Given the description of an element on the screen output the (x, y) to click on. 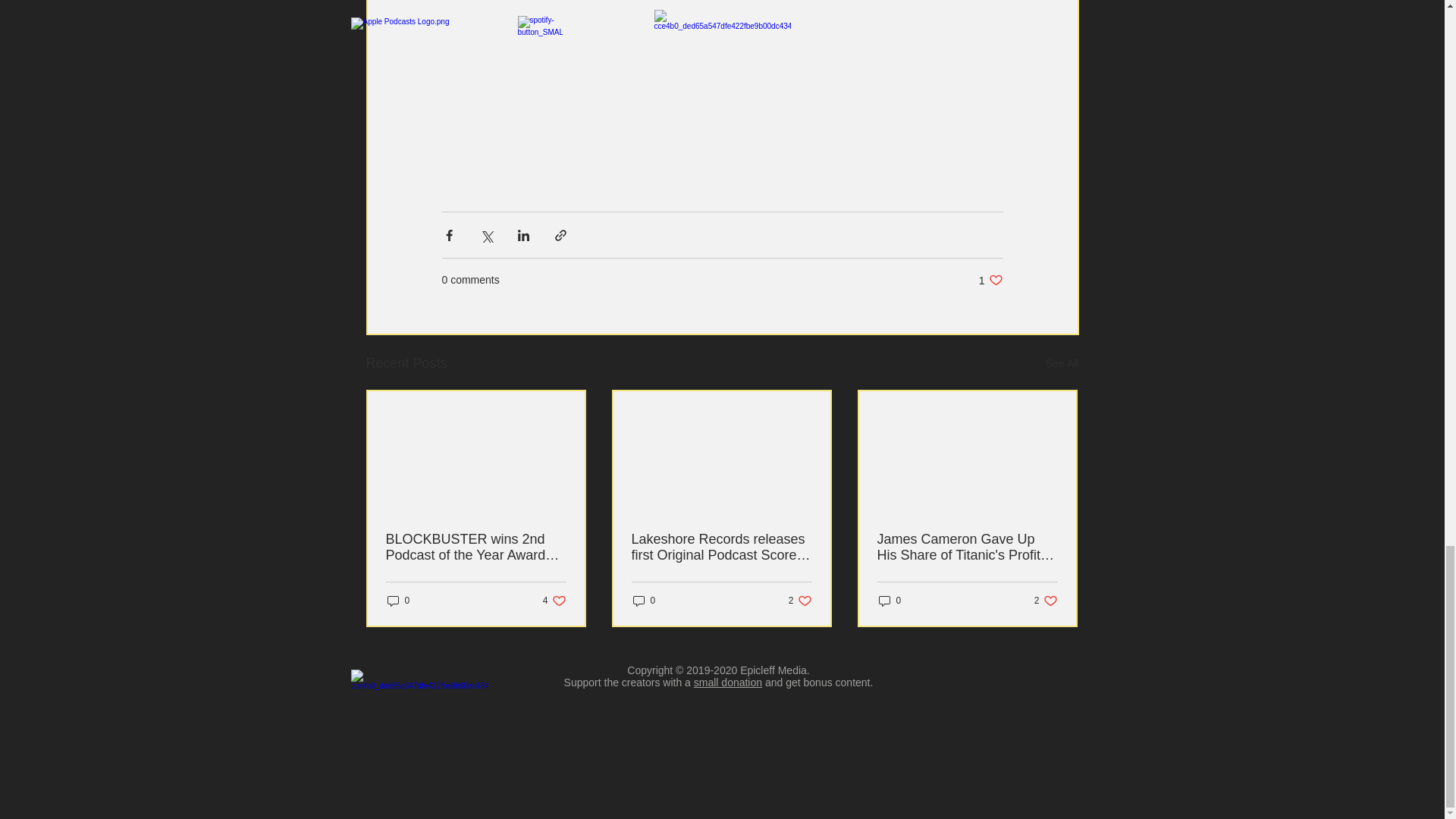
0 (554, 600)
See All (990, 279)
small donation (800, 600)
BLOCKBUSTER wins 2nd Podcast of the Year Award from Adweek (889, 600)
0 (1061, 363)
Facebook Like (727, 682)
Twitter Follow (475, 547)
0 (397, 600)
